Given the description of an element on the screen output the (x, y) to click on. 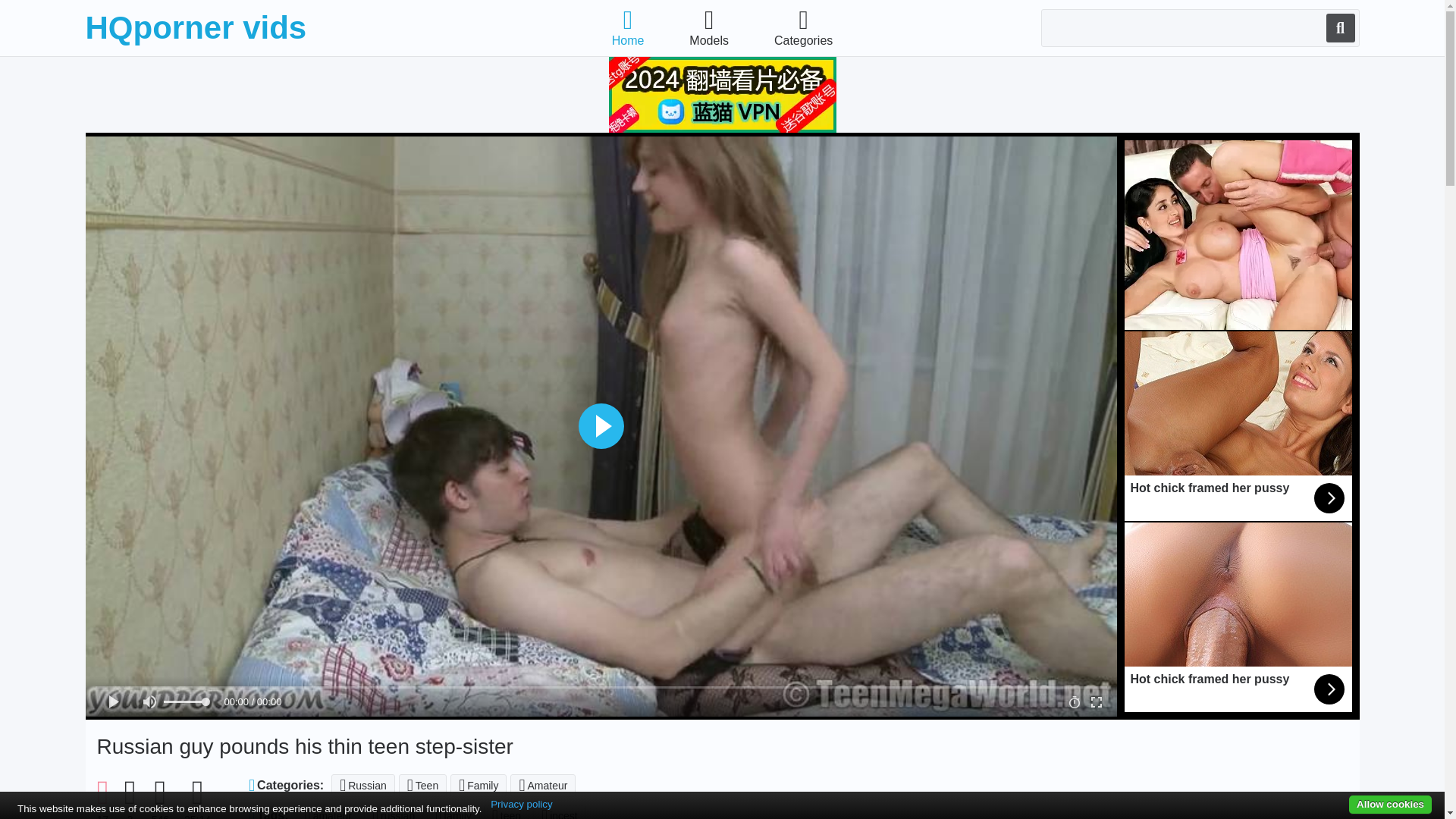
Search (1339, 27)
Hot chick framed her pussy (1237, 616)
Family (477, 784)
russian (393, 811)
Amateur (543, 784)
Teen (422, 784)
Russian (362, 784)
Hot chick framed her pussy (1237, 425)
family (453, 811)
Models (708, 27)
